Given the description of an element on the screen output the (x, y) to click on. 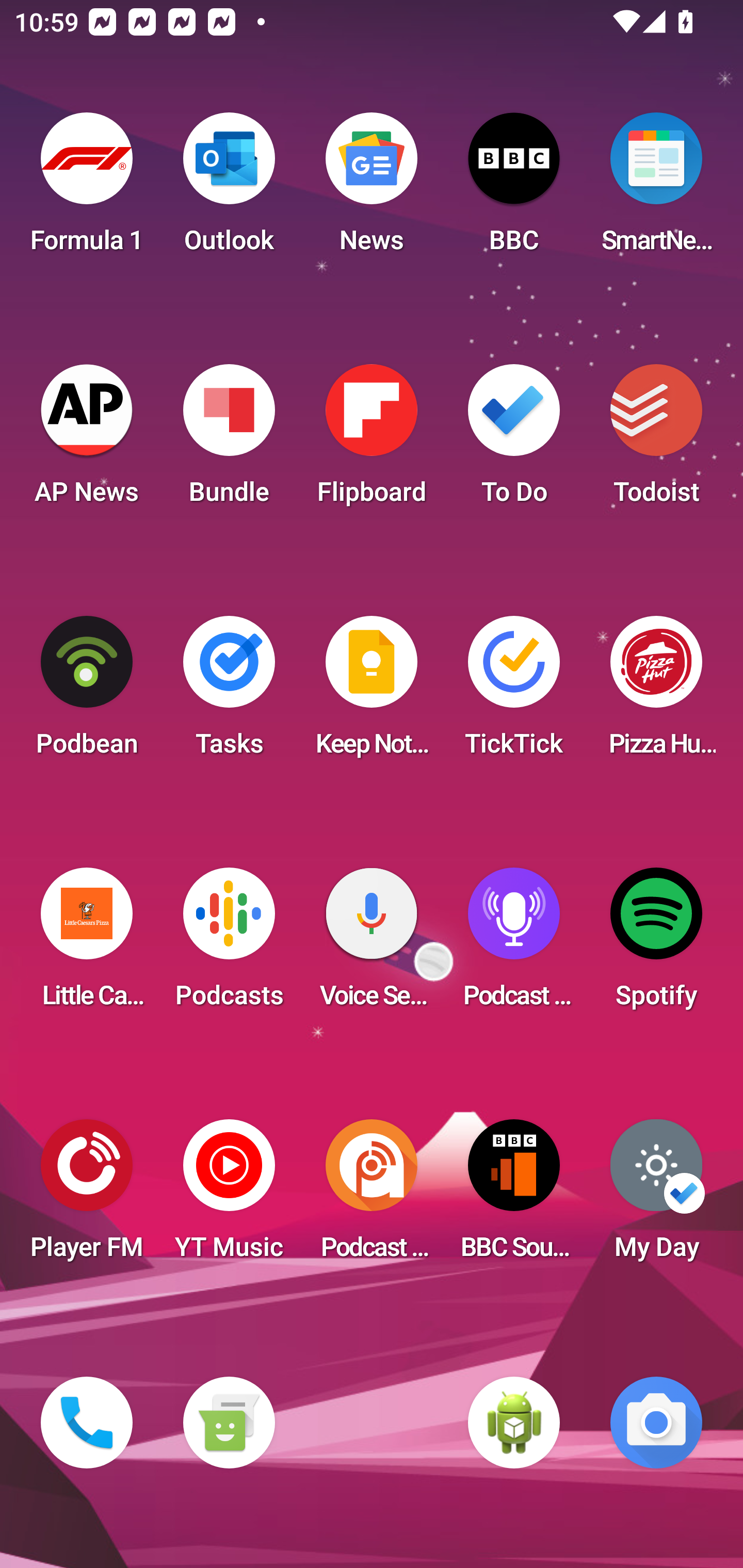
Formula 1 (86, 188)
Outlook (228, 188)
News (371, 188)
BBC (513, 188)
SmartNews (656, 188)
AP News (86, 440)
Bundle (228, 440)
Flipboard (371, 440)
To Do (513, 440)
Todoist (656, 440)
Podbean (86, 692)
Tasks (228, 692)
Keep Notes (371, 692)
TickTick (513, 692)
Pizza Hut HK & Macau (656, 692)
Little Caesars Pizza (86, 943)
Podcasts (228, 943)
Voice Search (371, 943)
Podcast Player (513, 943)
Spotify (656, 943)
Player FM (86, 1195)
YT Music (228, 1195)
Podcast Addict (371, 1195)
BBC Sounds (513, 1195)
My Day (656, 1195)
Phone (86, 1422)
Messaging (228, 1422)
WebView Browser Tester (513, 1422)
Camera (656, 1422)
